Given the description of an element on the screen output the (x, y) to click on. 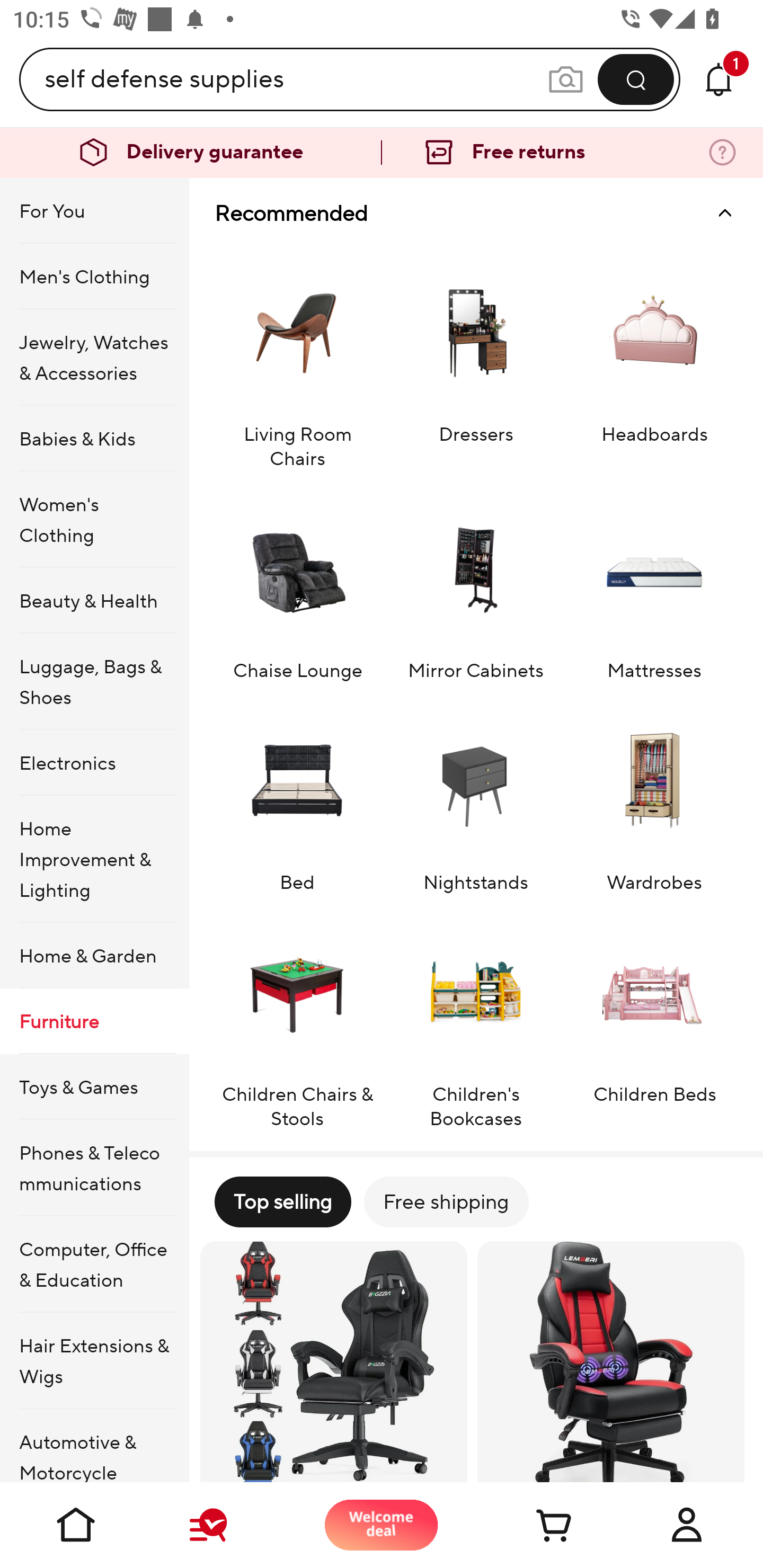
self defense supplies Search query (295, 79)
Messages 1 (718, 79)
Delivery guarantee Free returns (381, 152)
For You (94, 210)
Recommended  (476, 212)
Men's Clothing (94, 275)
Living Room Chairs (296, 359)
Dressers (475, 359)
Headboards (654, 359)
Jewelry, Watches & Accessories (94, 357)
Babies & Kids (94, 438)
Women's Clothing (94, 519)
Chaise Lounge (296, 583)
Mirror Cabinets (475, 583)
Mattresses (654, 583)
Beauty & Health (94, 600)
Luggage, Bags & Shoes (94, 681)
Bed (296, 795)
Nightstands (475, 795)
Wardrobes (654, 795)
Electronics (94, 762)
Home Improvement & Lighting (94, 858)
Children Chairs & Stools (296, 1019)
Children's Bookcases (475, 1019)
Children Beds (654, 1019)
Home & Garden (94, 955)
Furniture (94, 1020)
Toys & Games (94, 1086)
Phones & Telecommunications (94, 1167)
Top selling (282, 1201)
Free shipping (445, 1201)
Computer, Office & Education (94, 1264)
Hair Extensions & Wigs (94, 1360)
Automotive & Motorcycle (94, 1445)
Home (76, 1524)
Cart (533, 1524)
Account (686, 1524)
